Given the description of an element on the screen output the (x, y) to click on. 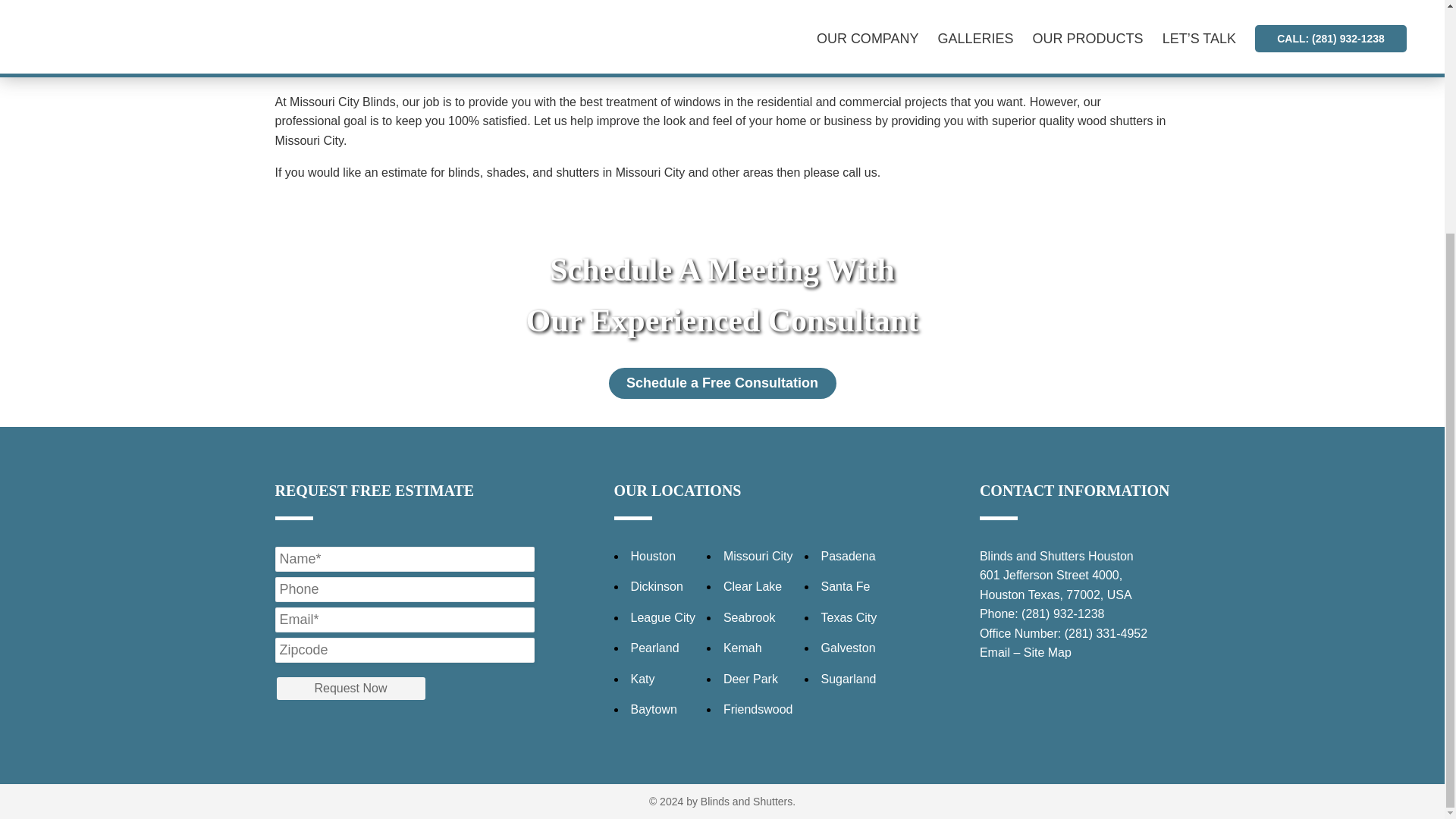
Office Number (1105, 633)
Request Now (350, 688)
Phone (1062, 613)
HTML Site Map for User (1047, 652)
Email (994, 652)
